Given the description of an element on the screen output the (x, y) to click on. 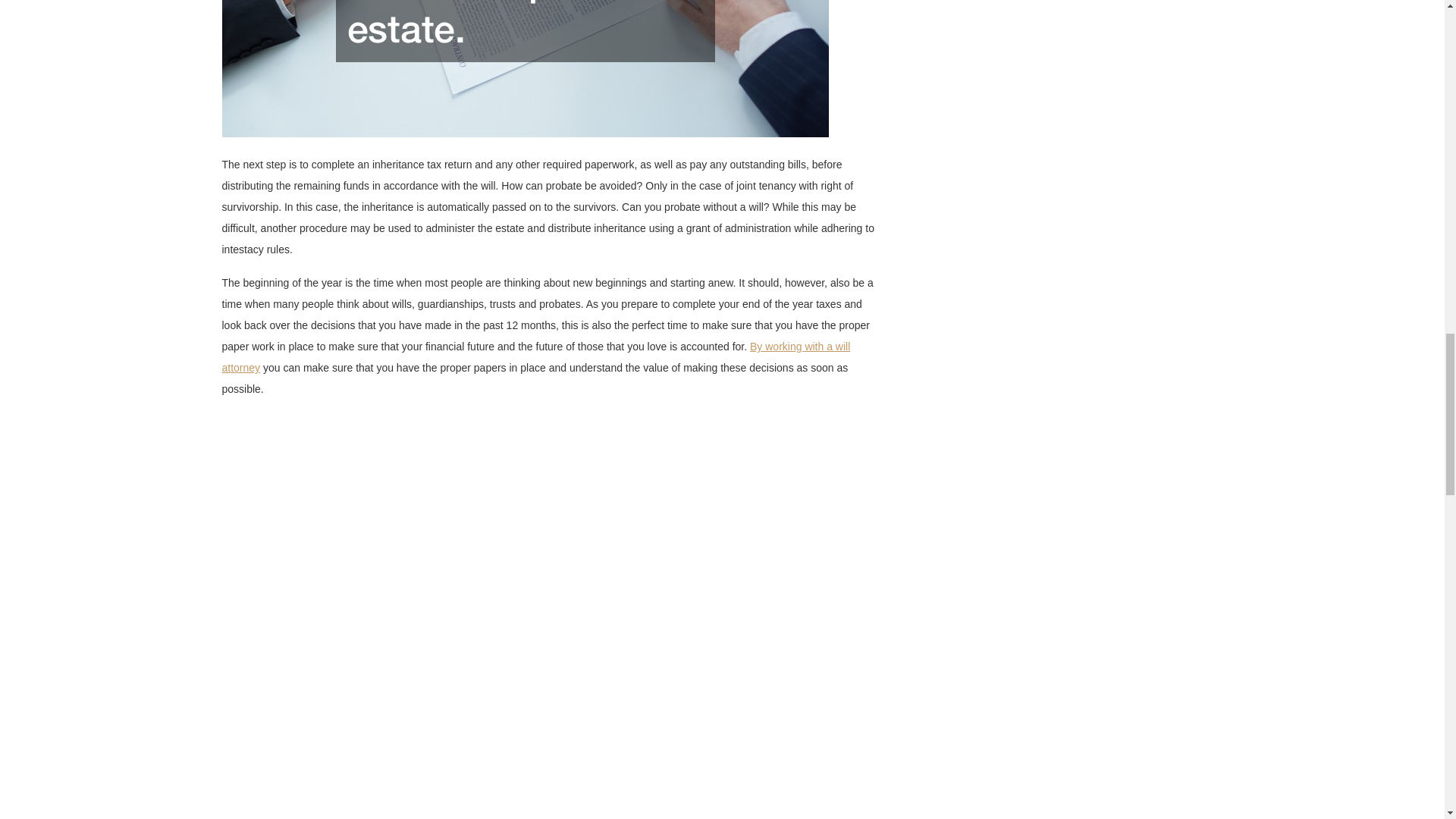
Probate law, San francisco will lawyer (535, 356)
By working with a will attorney (535, 356)
